Given the description of an element on the screen output the (x, y) to click on. 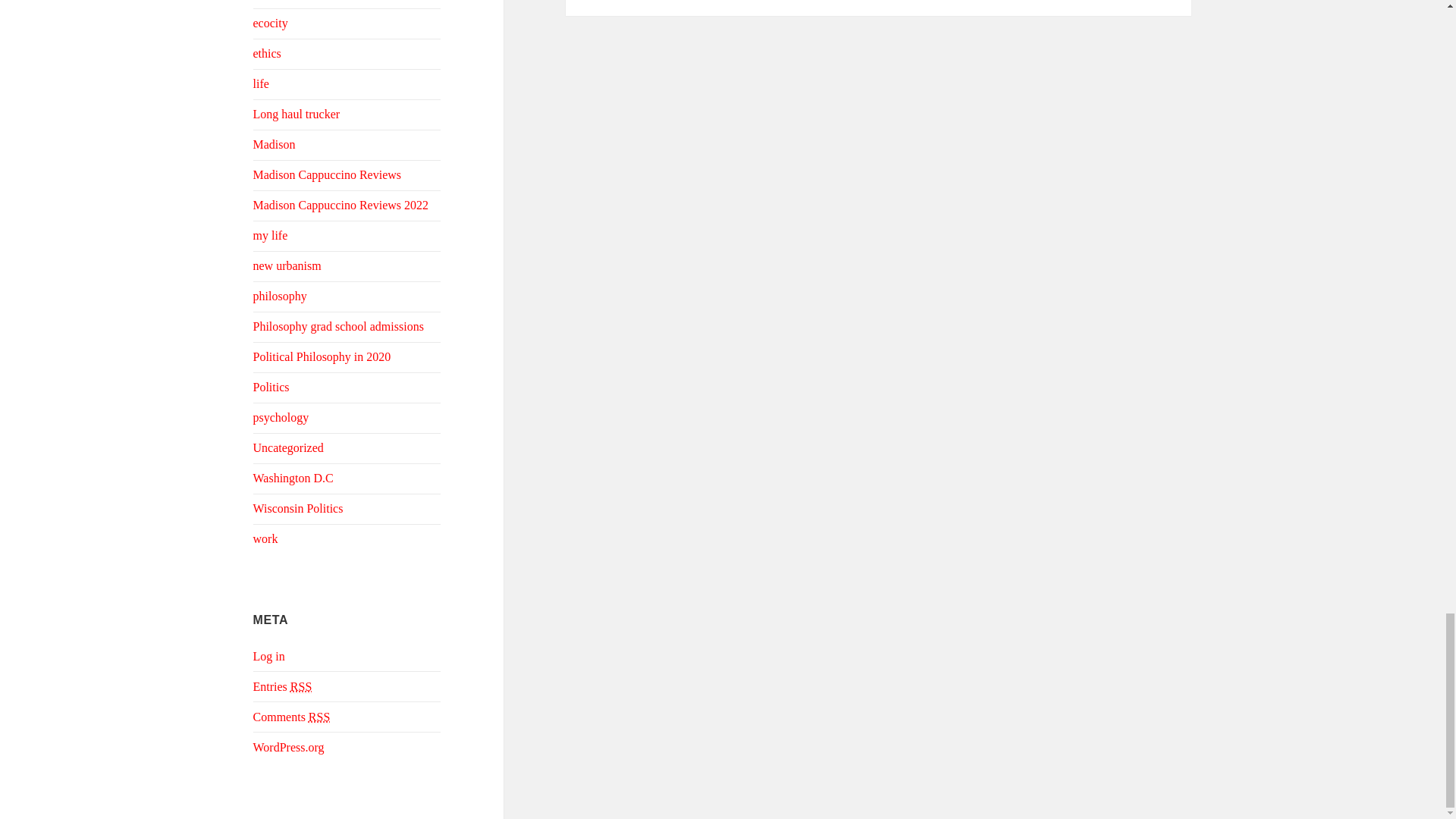
Really Simple Syndication (319, 716)
Really Simple Syndication (300, 686)
